Given the description of an element on the screen output the (x, y) to click on. 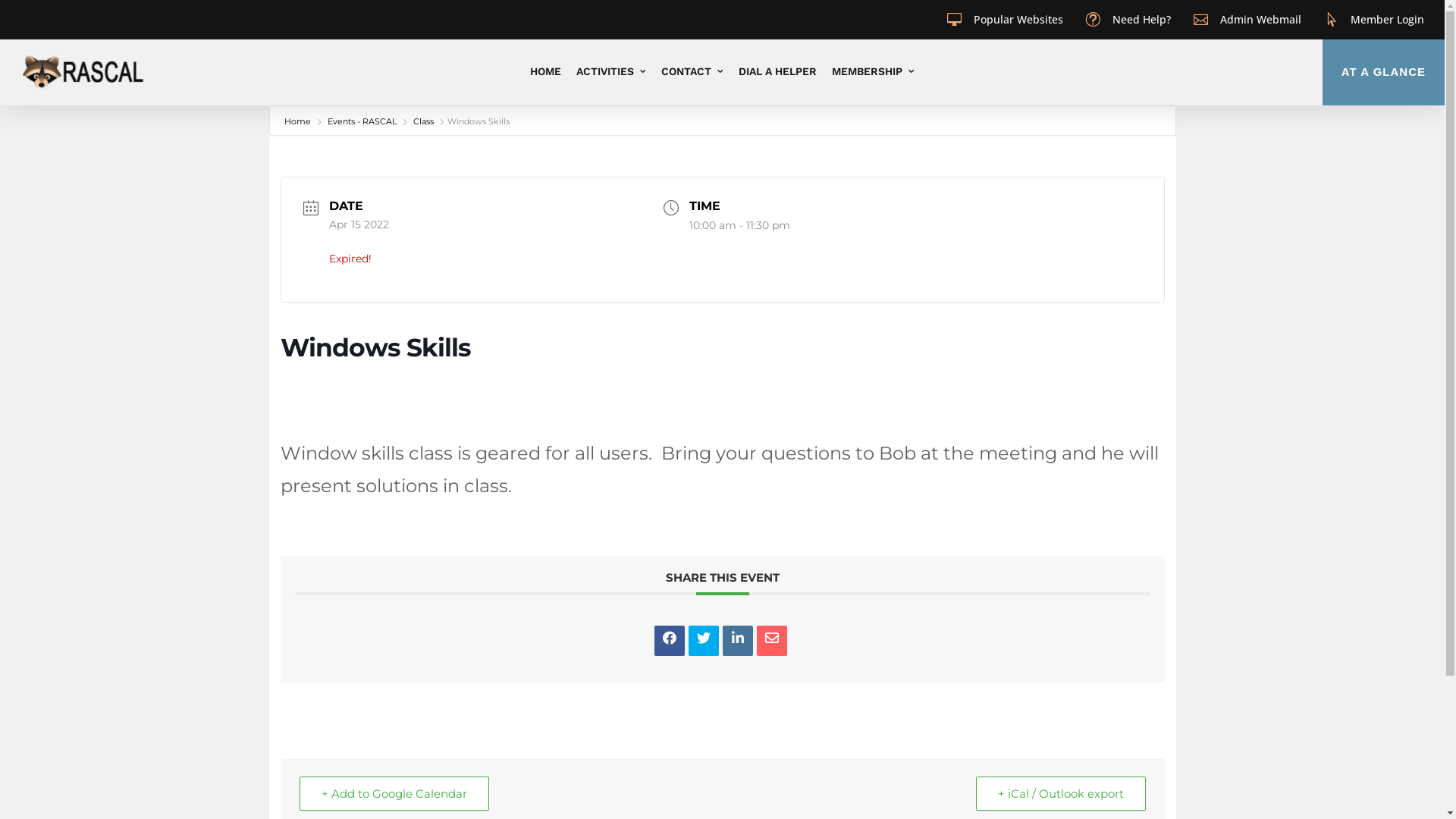
Tweet Element type: hover (703, 640)
AT A GLANCE Element type: text (1383, 72)
logowithtext5 Element type: hover (83, 71)
ACTIVITIES Element type: text (611, 71)
DIAL A HELPER Element type: text (777, 71)
Home Element type: text (296, 120)
Email Element type: hover (771, 640)
+ iCal / Outlook export Element type: text (1060, 793)
Linkedin Element type: hover (736, 640)
Follow on Pinterest Element type: hover (98, 19)
Follow on Facebook Element type: hover (19, 19)
Class Element type: text (421, 120)
+ Add to Google Calendar Element type: text (393, 793)
Follow on Instagram Element type: hover (137, 19)
HOME Element type: text (545, 71)
Events - RASCAL Element type: text (360, 120)
Member Login Element type: text (1387, 19)
Share on Facebook Element type: hover (668, 640)
Follow on X Element type: hover (58, 19)
MEMBERSHIP Element type: text (872, 71)
CONTACT Element type: text (692, 71)
